Given the description of an element on the screen output the (x, y) to click on. 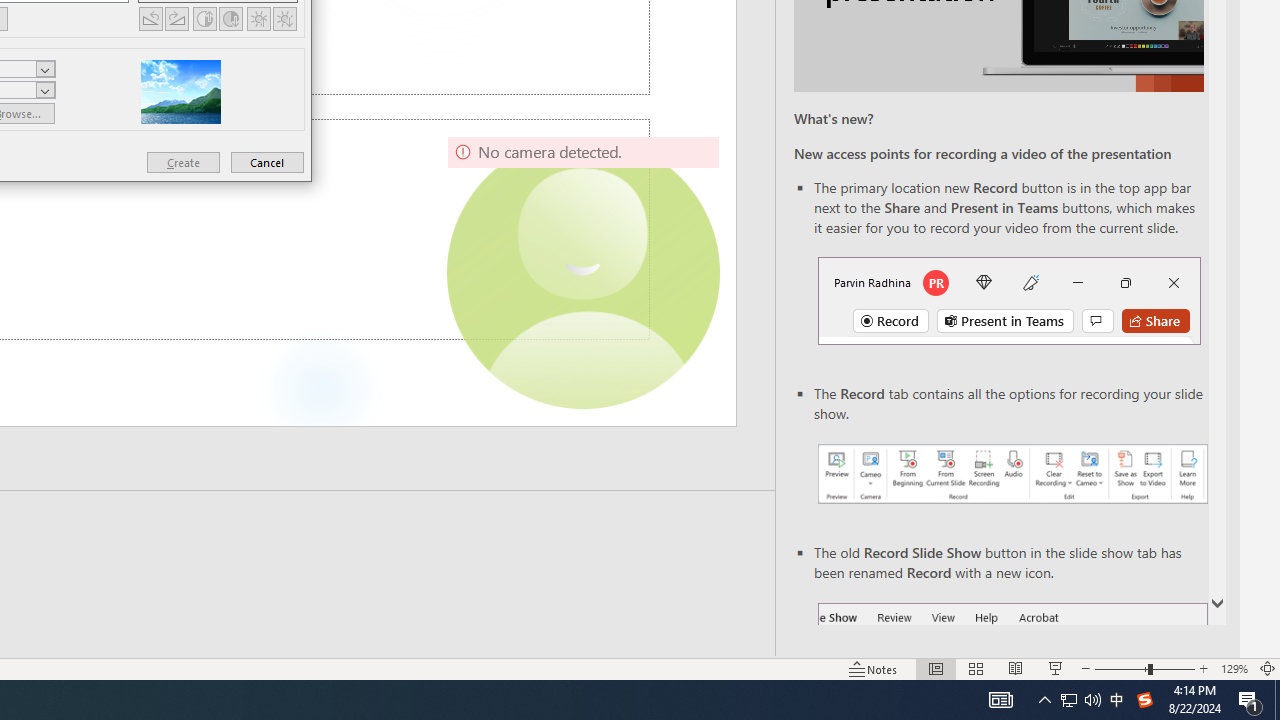
Notification Chevron (1044, 699)
Record your presentations screenshot one (1069, 699)
